Given the description of an element on the screen output the (x, y) to click on. 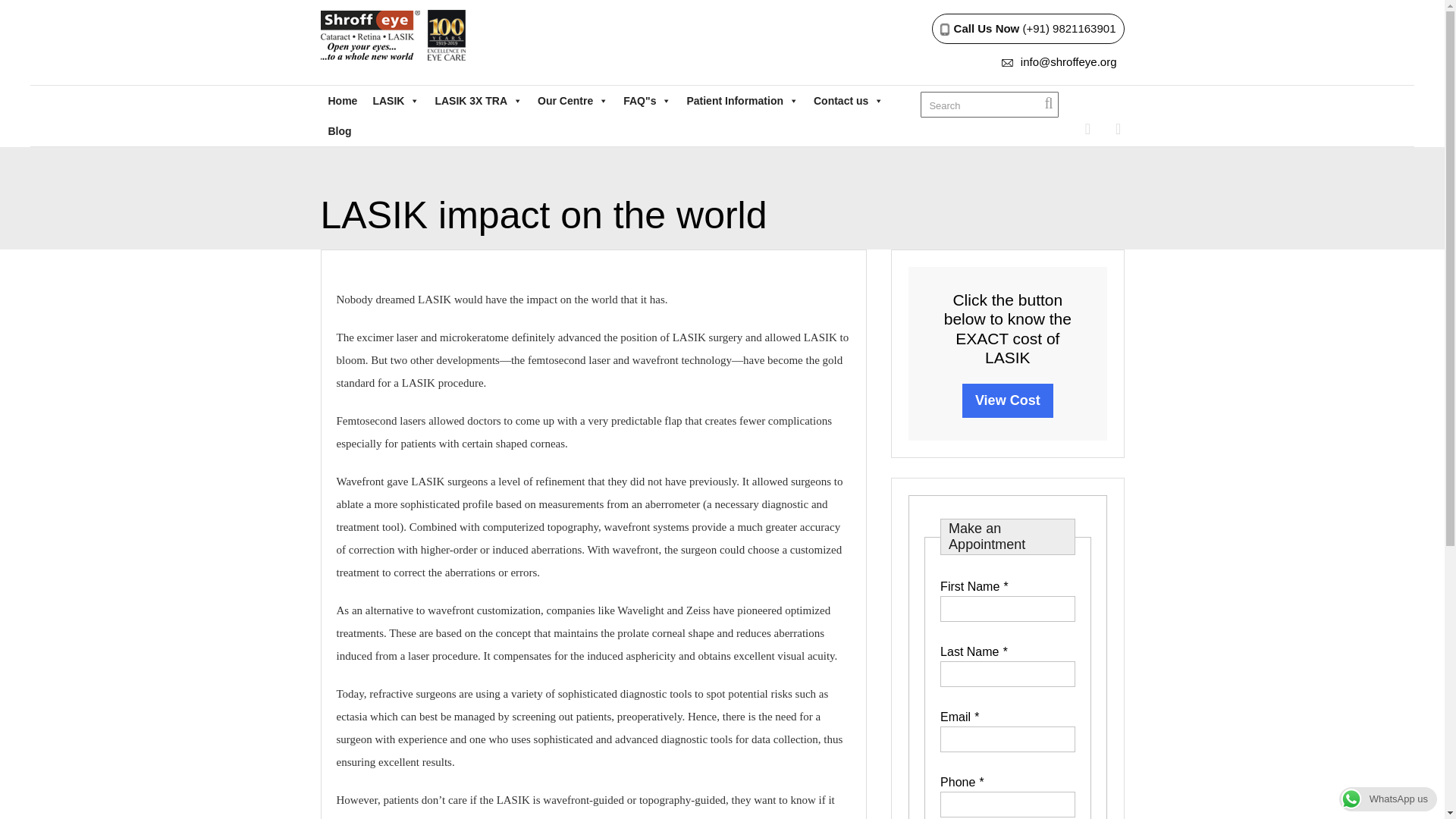
LASIK 3X TRA (477, 100)
Home (342, 100)
LASIK (395, 100)
Our Centre (572, 100)
FAQ"s (646, 100)
